Given the description of an element on the screen output the (x, y) to click on. 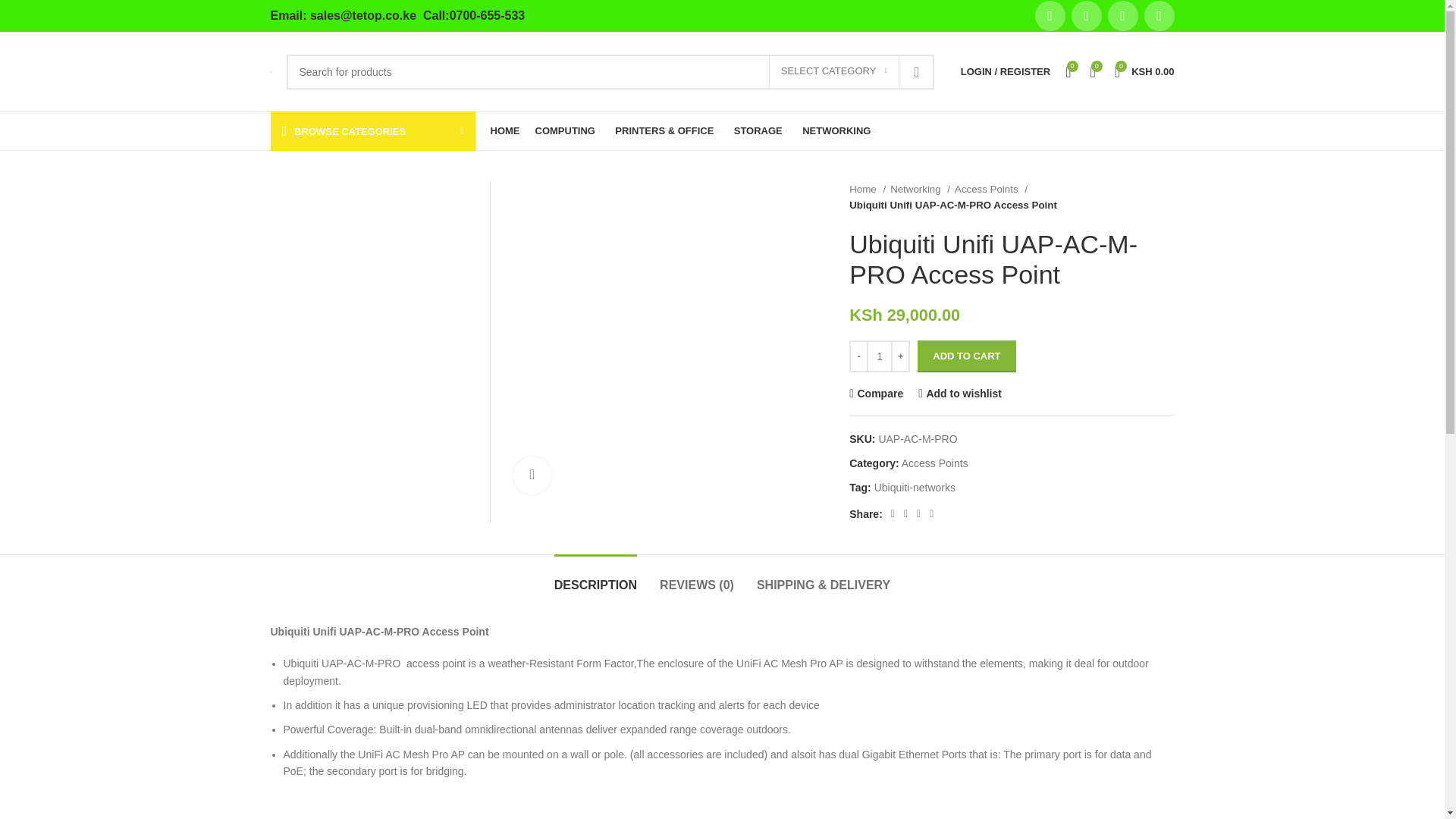
Shopping cart (1144, 71)
- (857, 356)
1 (879, 356)
Search for products (610, 71)
SELECT CATEGORY (833, 71)
Compare products (1093, 71)
SELECT CATEGORY (833, 71)
My Wishlist (1068, 71)
My account (1005, 71)
